Given the description of an element on the screen output the (x, y) to click on. 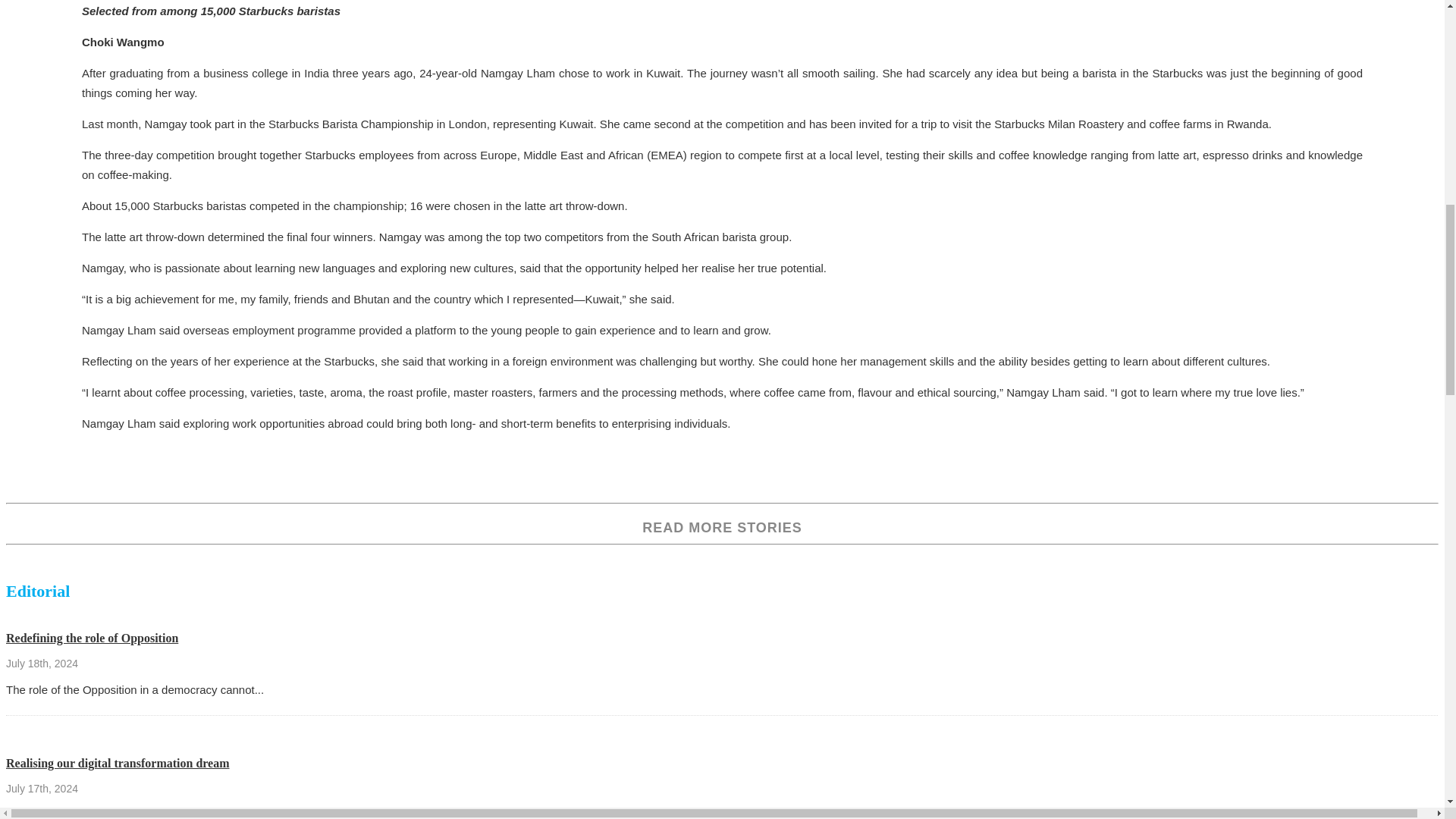
Realising our digital transformation dream (117, 762)
Redefining the role of Opposition (91, 637)
